Given the description of an element on the screen output the (x, y) to click on. 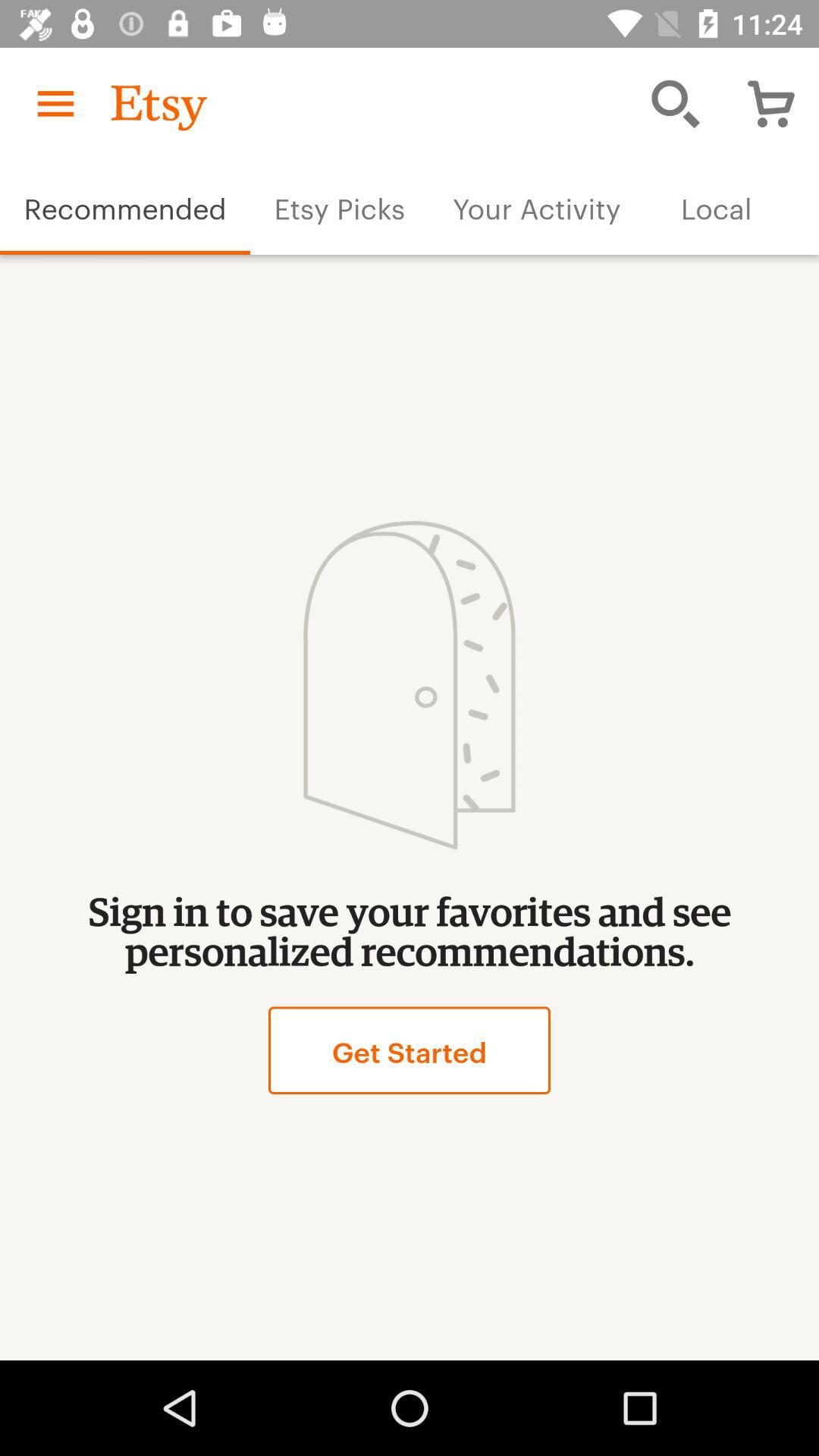
turn off the item below sign in to (409, 1050)
